Given the description of an element on the screen output the (x, y) to click on. 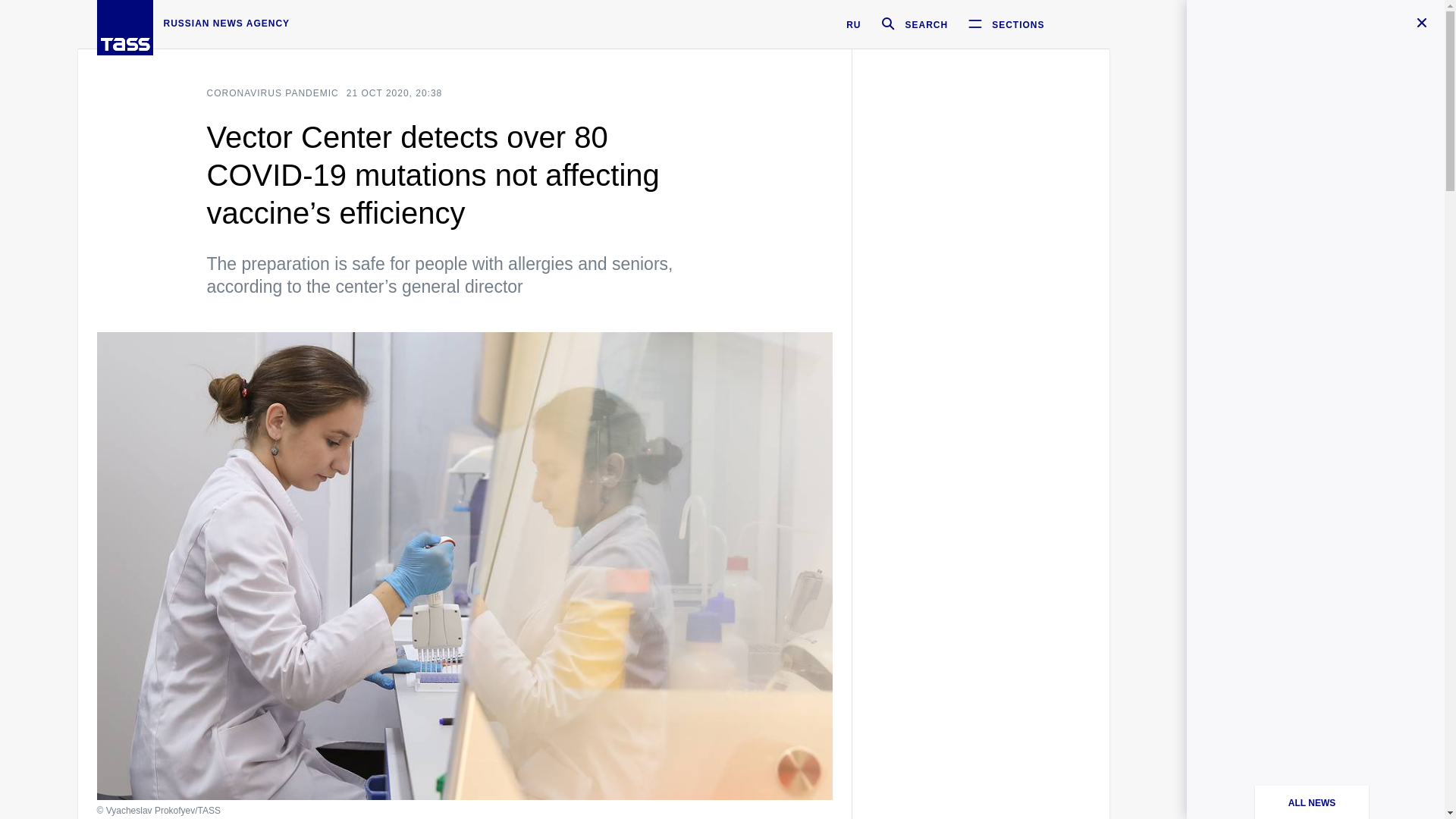
SEARCH (908, 24)
RU (852, 24)
